Given the description of an element on the screen output the (x, y) to click on. 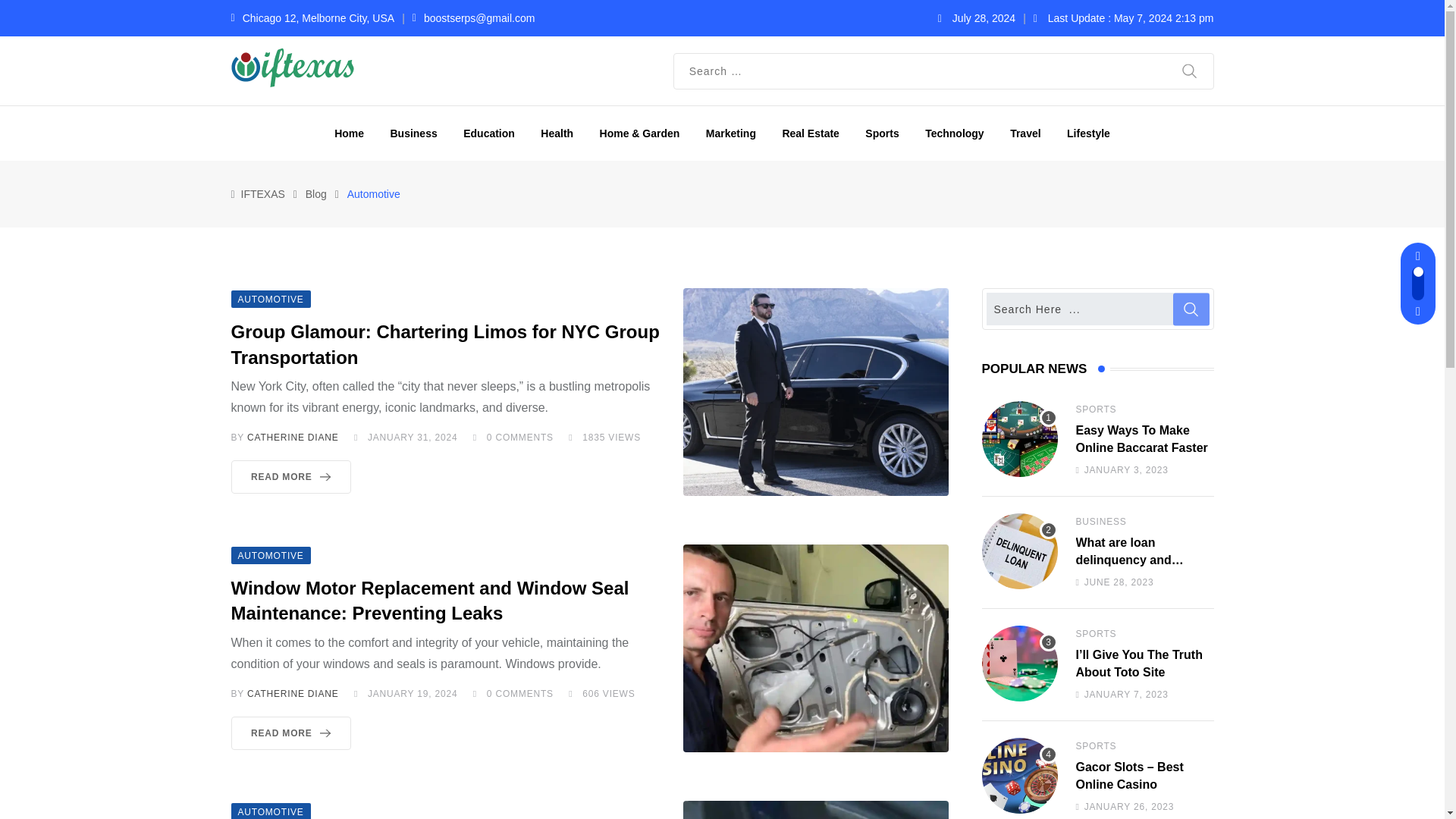
Blog (315, 193)
Posts by Catherine Diane (292, 693)
Travel (1024, 133)
Sports (881, 133)
What are loan delinquency and default? (1019, 550)
Technology (954, 133)
IFTEXAS (263, 193)
CATHERINE DIANE (292, 437)
AUTOMOTIVE (270, 297)
Education (488, 133)
Real Estate (810, 133)
0 COMMENTS (519, 437)
Business (413, 133)
Go to Blog. (315, 193)
Easy Ways To Make Online Baccarat Faster (1019, 438)
